Given the description of an element on the screen output the (x, y) to click on. 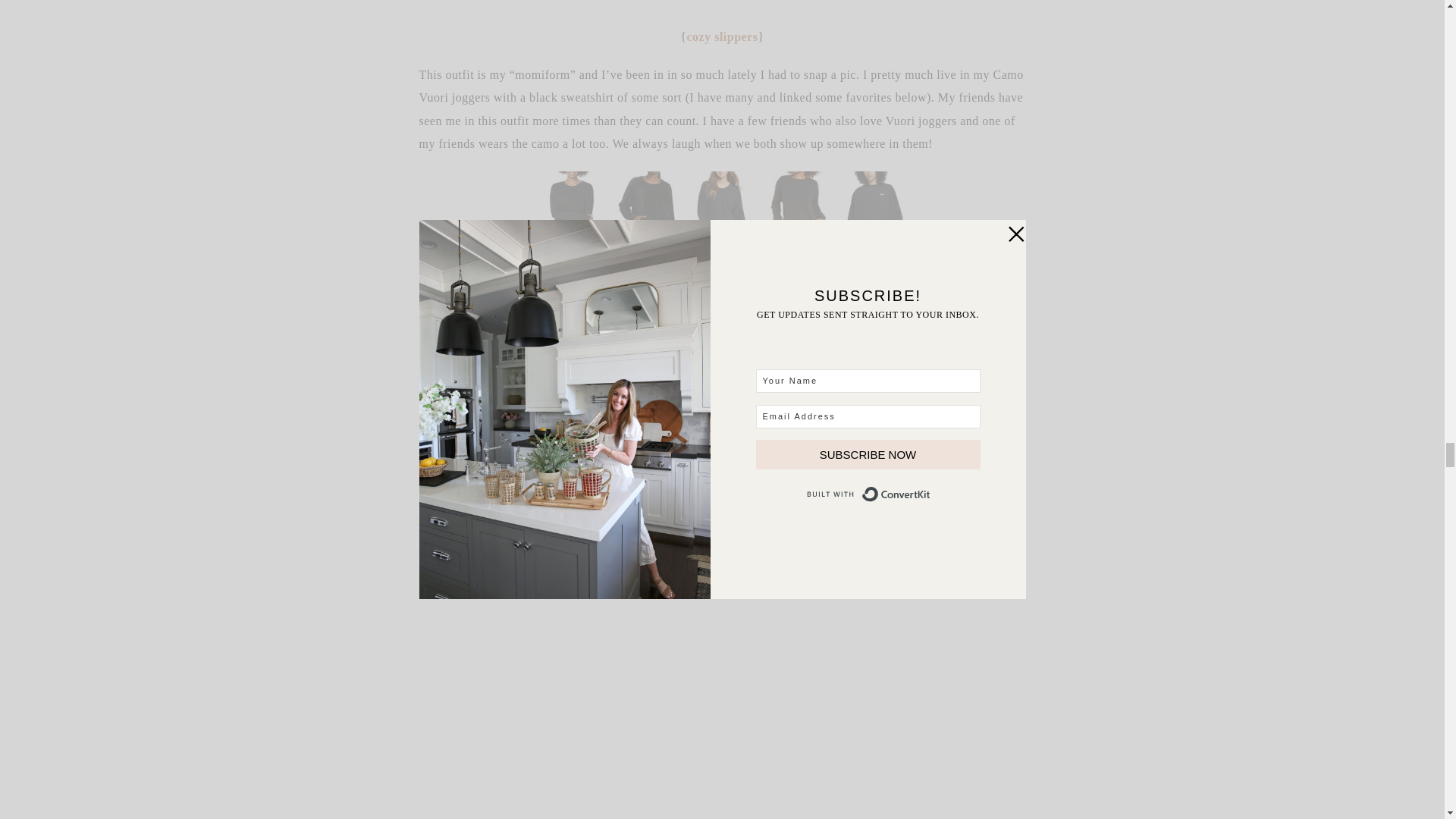
cozy slippers (721, 36)
